Given the description of an element on the screen output the (x, y) to click on. 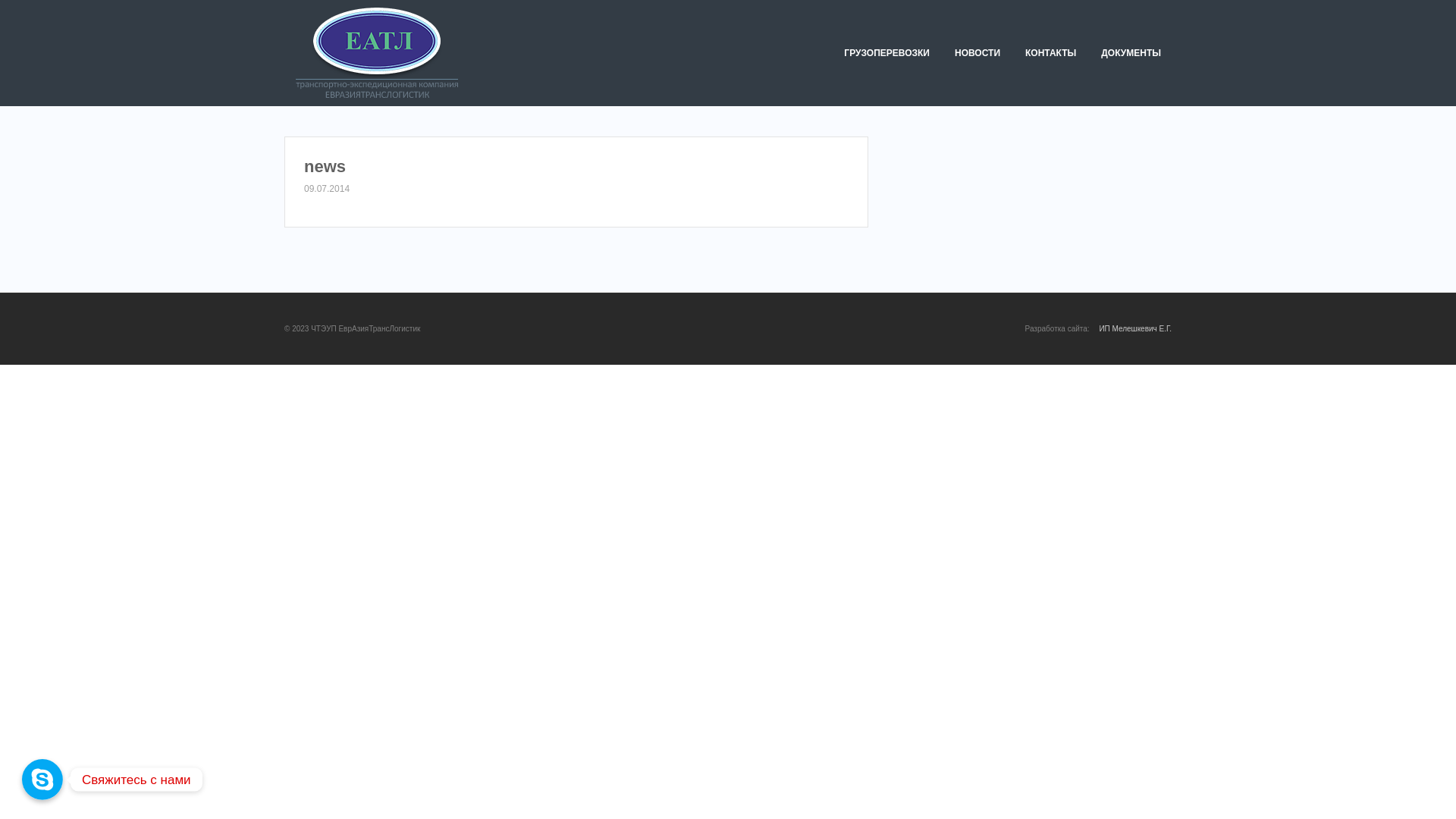
LiveInternet Element type: hover (11, 376)
